Given the description of an element on the screen output the (x, y) to click on. 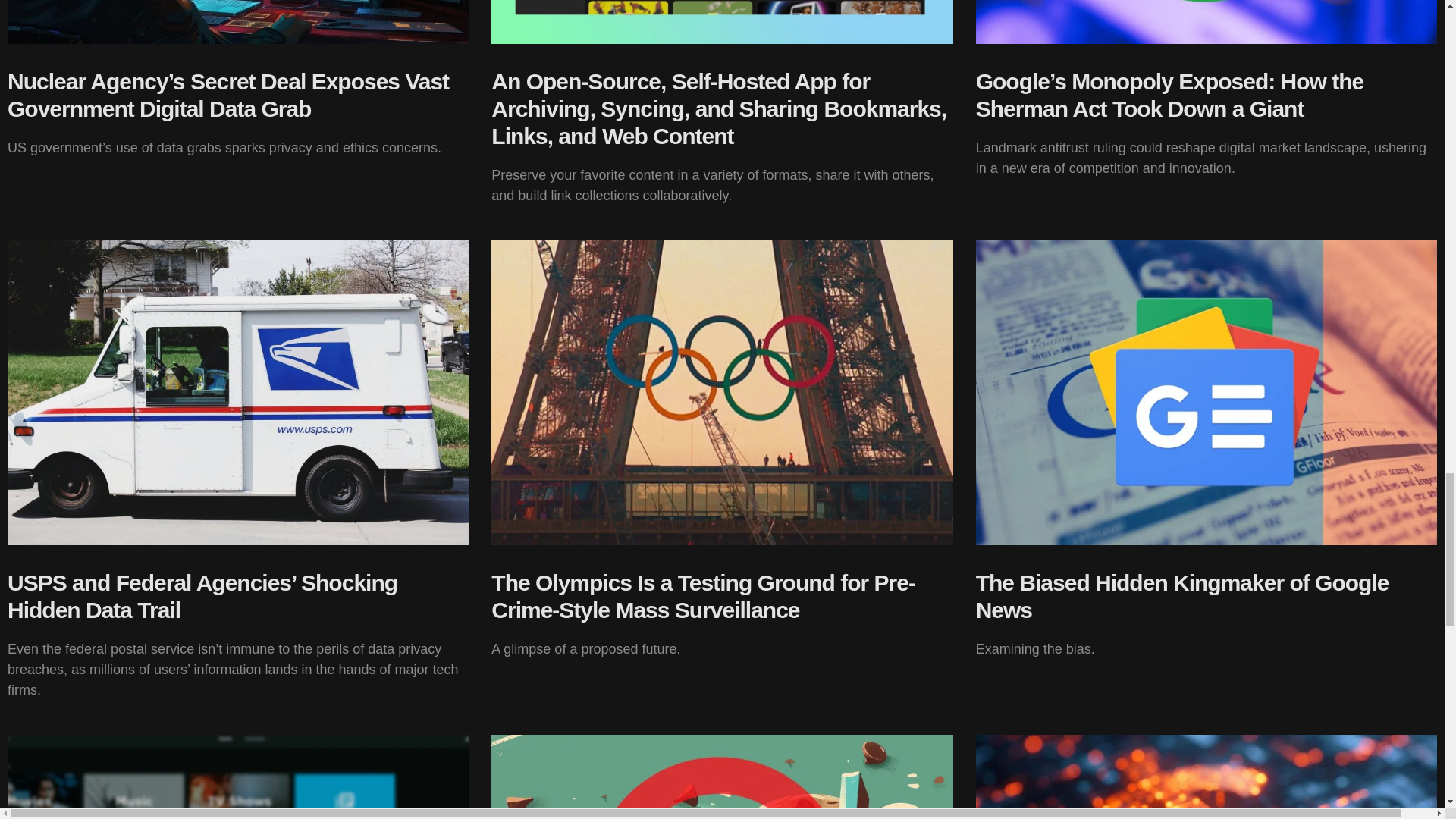
The Biased Hidden Kingmaker of Google News (1182, 596)
